Given the description of an element on the screen output the (x, y) to click on. 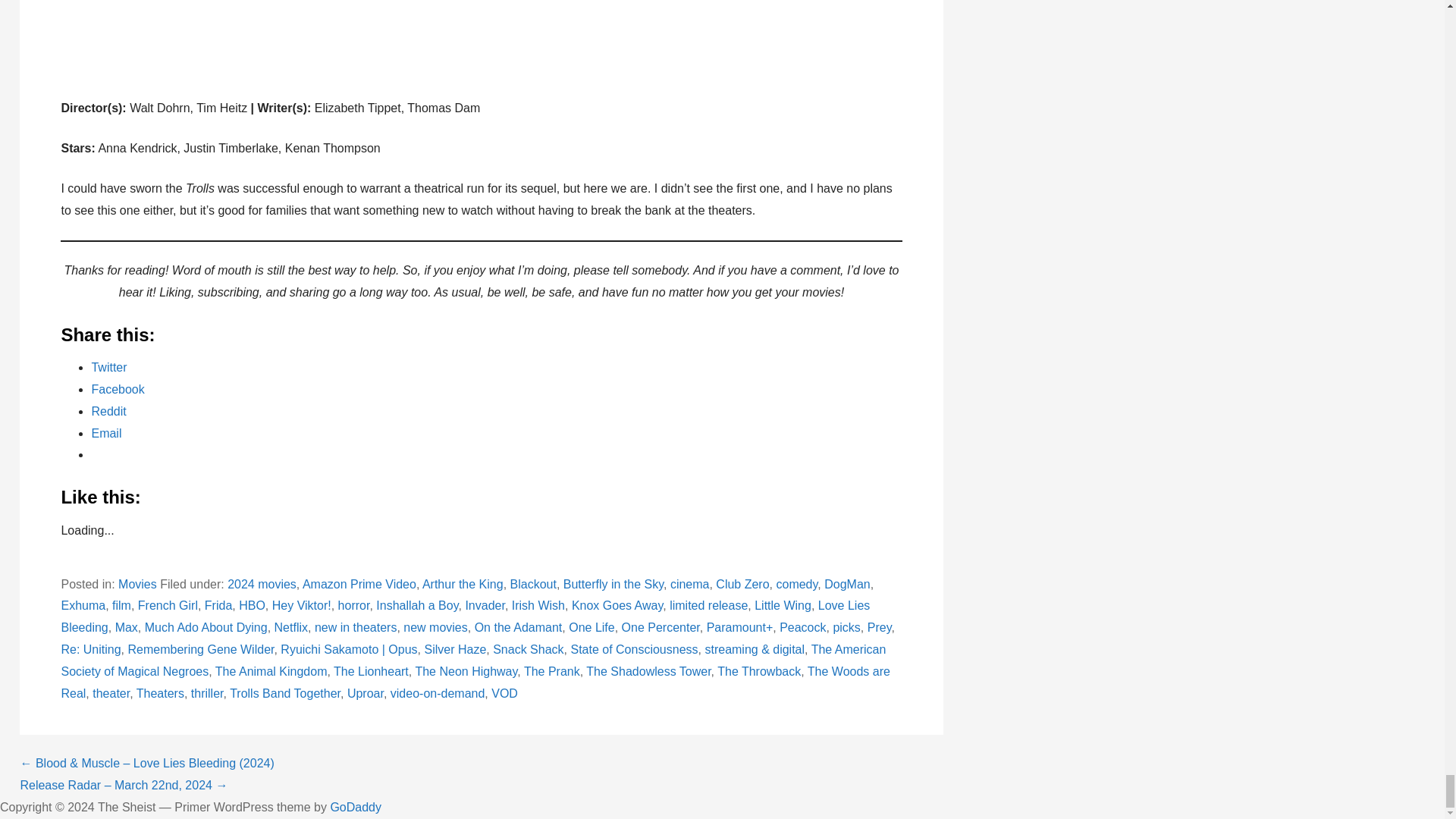
Email (105, 432)
Irish Wish (538, 604)
limited release (708, 604)
French Girl (168, 604)
Frida (218, 604)
Little Wing (782, 604)
Arthur the King (462, 584)
Butterfly in the Sky (613, 584)
Reddit (107, 410)
Club Zero (742, 584)
Inshallah a Boy (416, 604)
film (121, 604)
Hey Viktor! (301, 604)
Movies (137, 584)
Facebook (117, 389)
